Given the description of an element on the screen output the (x, y) to click on. 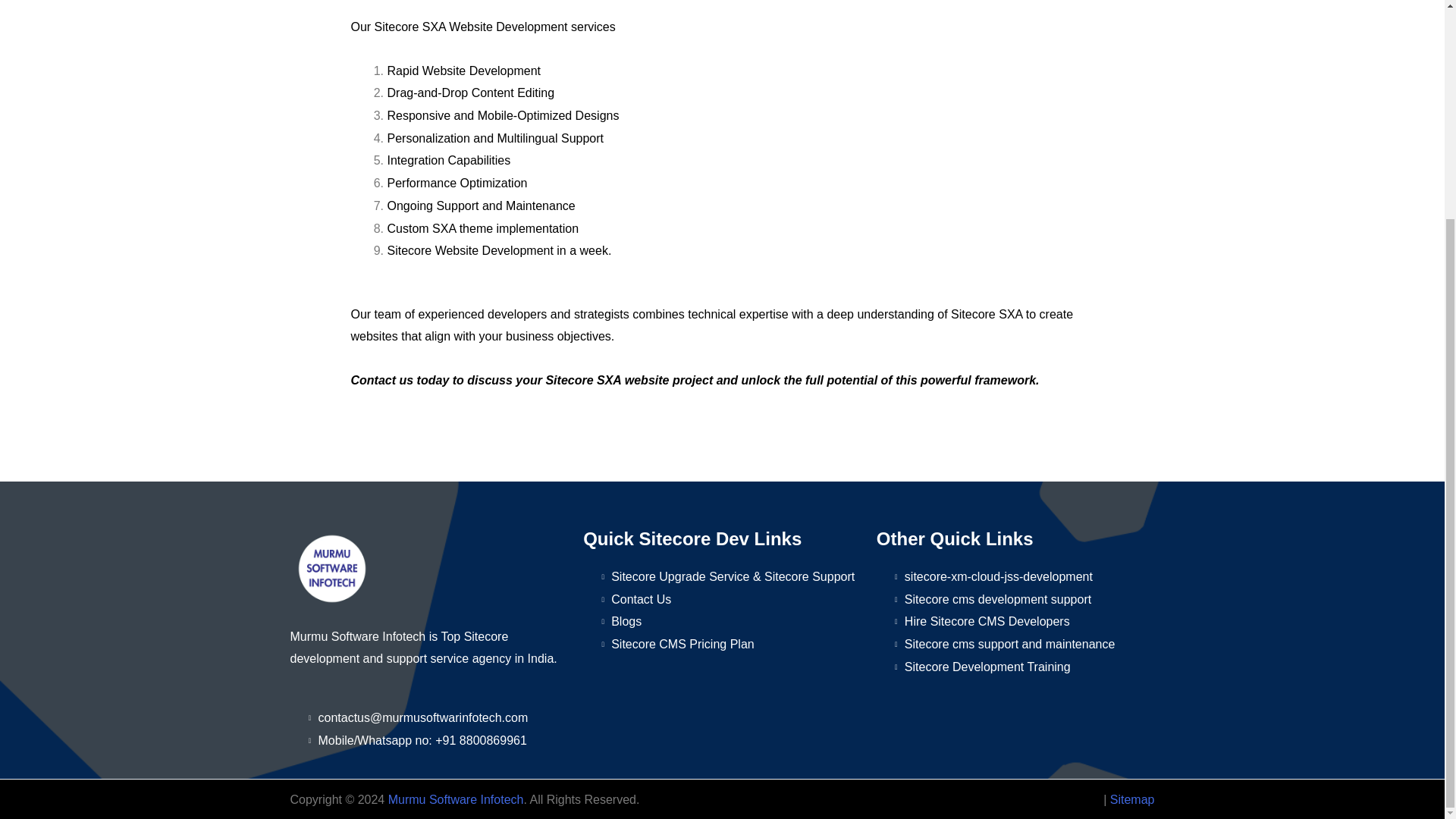
sitecore-xm-cloud-jss-development (1022, 576)
Blogs (729, 621)
Sitecore cms support and maintenance (1022, 644)
Murmu Software Infotech (456, 799)
Sitecore cms development support (1022, 599)
Sitecore CMS Pricing Plan (729, 644)
Sitecore Development Training (1022, 667)
Sitemap (1131, 799)
Contact Us (729, 599)
